Given the description of an element on the screen output the (x, y) to click on. 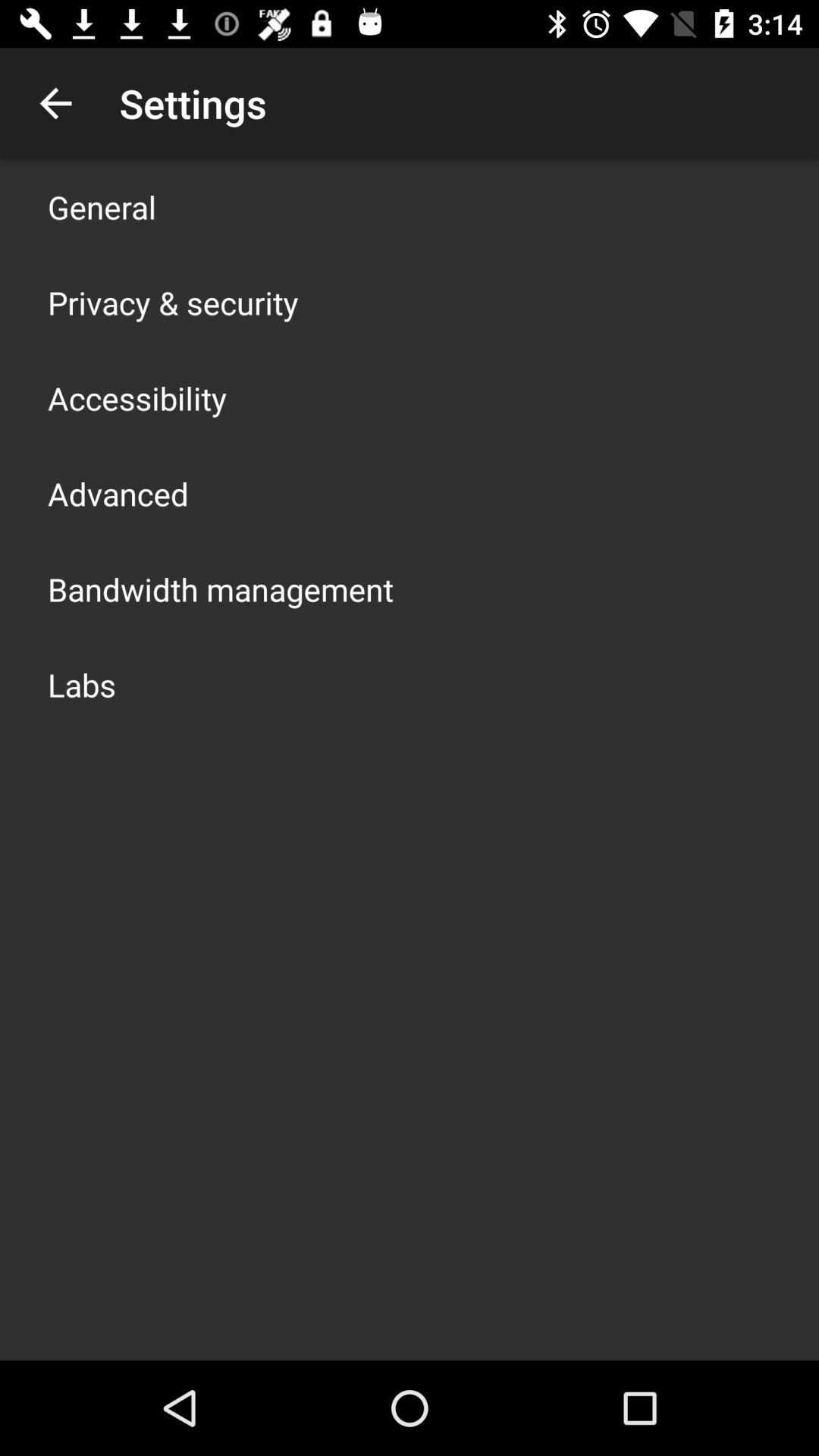
open labs item (81, 684)
